Given the description of an element on the screen output the (x, y) to click on. 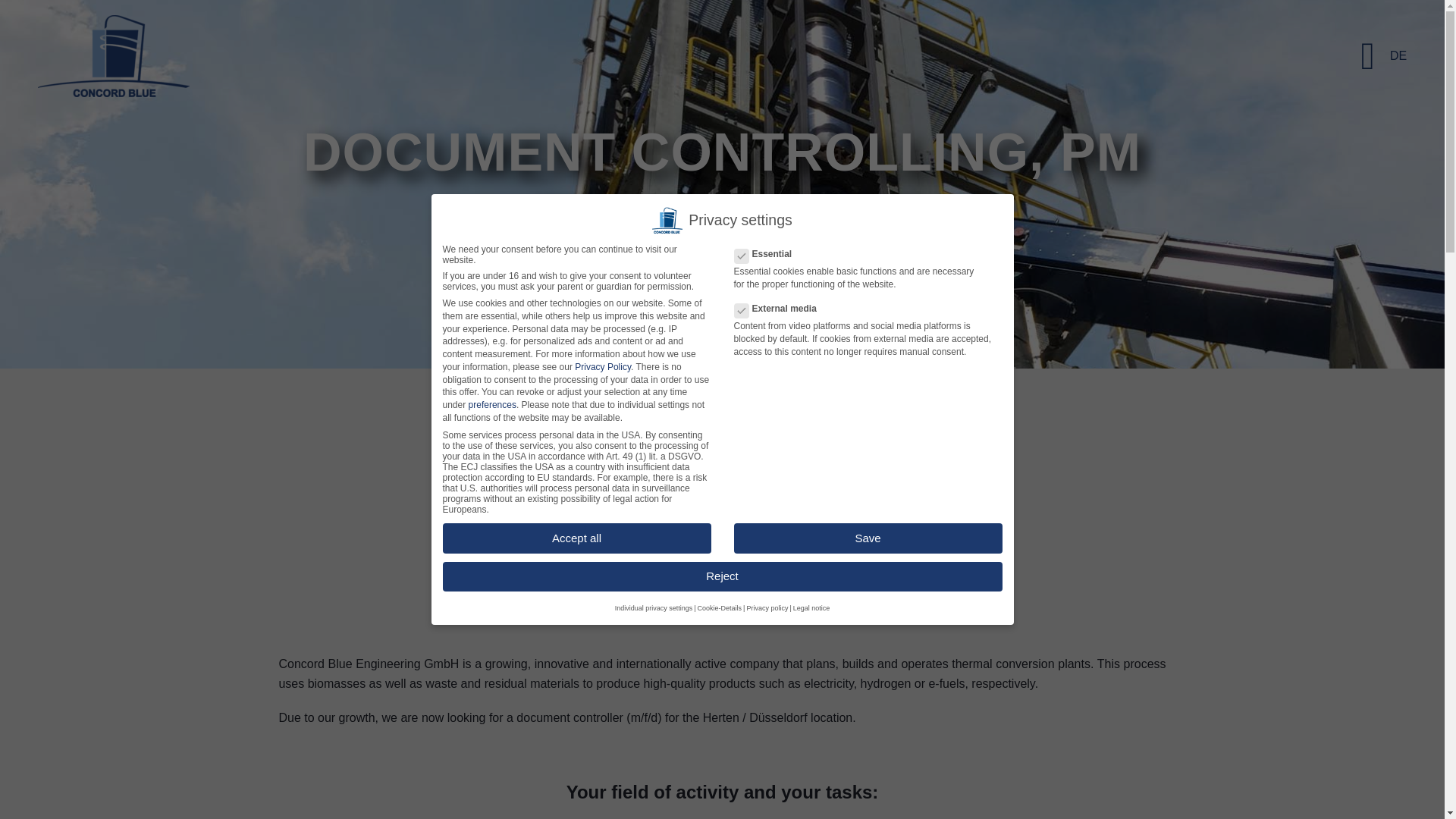
Reject (722, 576)
Individual privacy settings (653, 607)
Privacy Policy (602, 366)
Accept all (576, 537)
Save (868, 537)
preferences (492, 404)
